Given the description of an element on the screen output the (x, y) to click on. 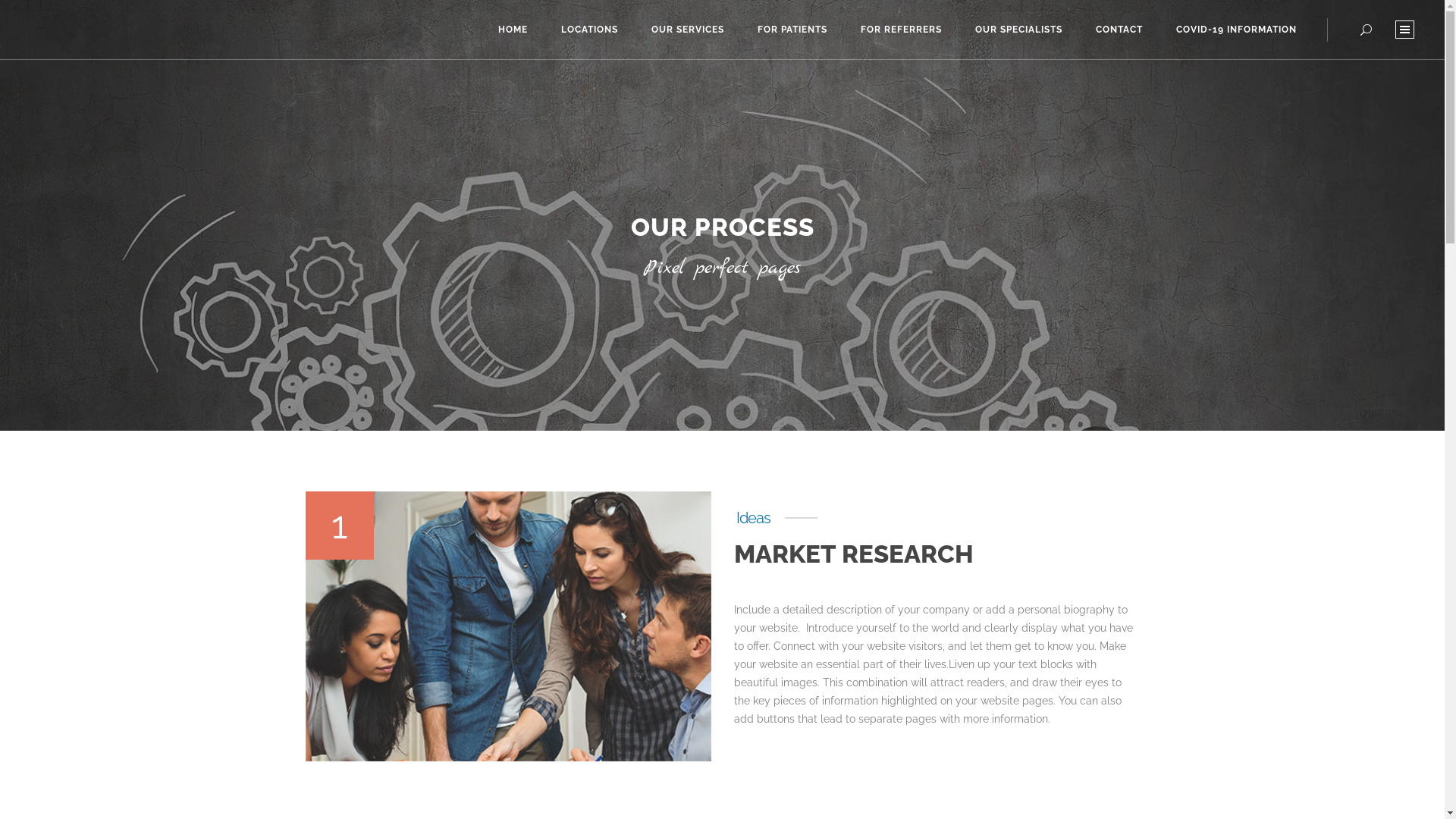
COVID-19 INFORMATION Element type: text (1236, 29)
OUR SPECIALISTS Element type: text (1018, 29)
FOR PATIENTS Element type: text (792, 29)
LOCATIONS Element type: text (589, 29)
CONTACT Element type: text (1118, 29)
  Element type: text (1404, 29)
U Element type: text (997, 409)
FOR REFERRERS Element type: text (901, 29)
HOME Element type: text (512, 29)
OUR SERVICES Element type: text (687, 29)
